Given the description of an element on the screen output the (x, y) to click on. 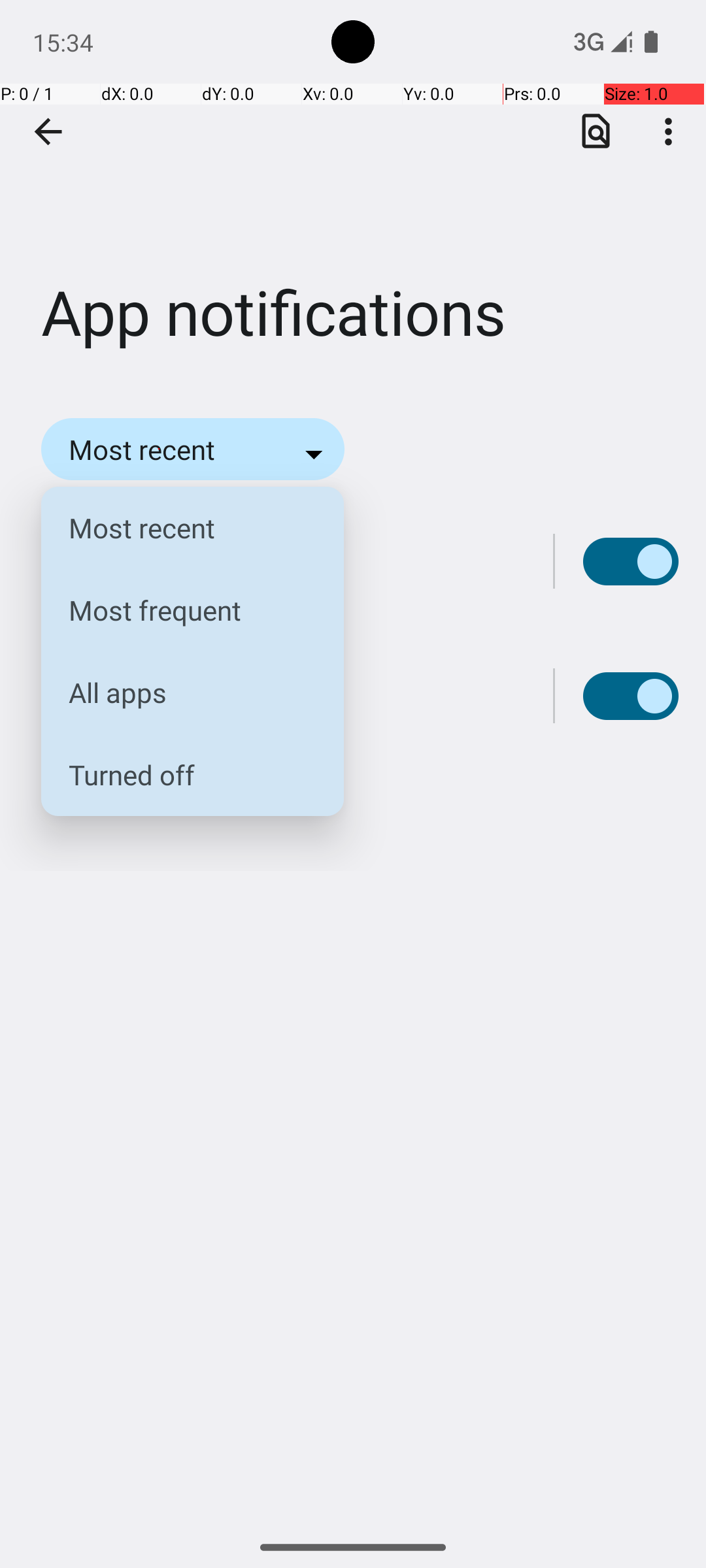
Most frequent Element type: android.widget.TextView (182, 610)
All apps Element type: android.widget.TextView (182, 692)
Turned off Element type: android.widget.TextView (182, 774)
